Given the description of an element on the screen output the (x, y) to click on. 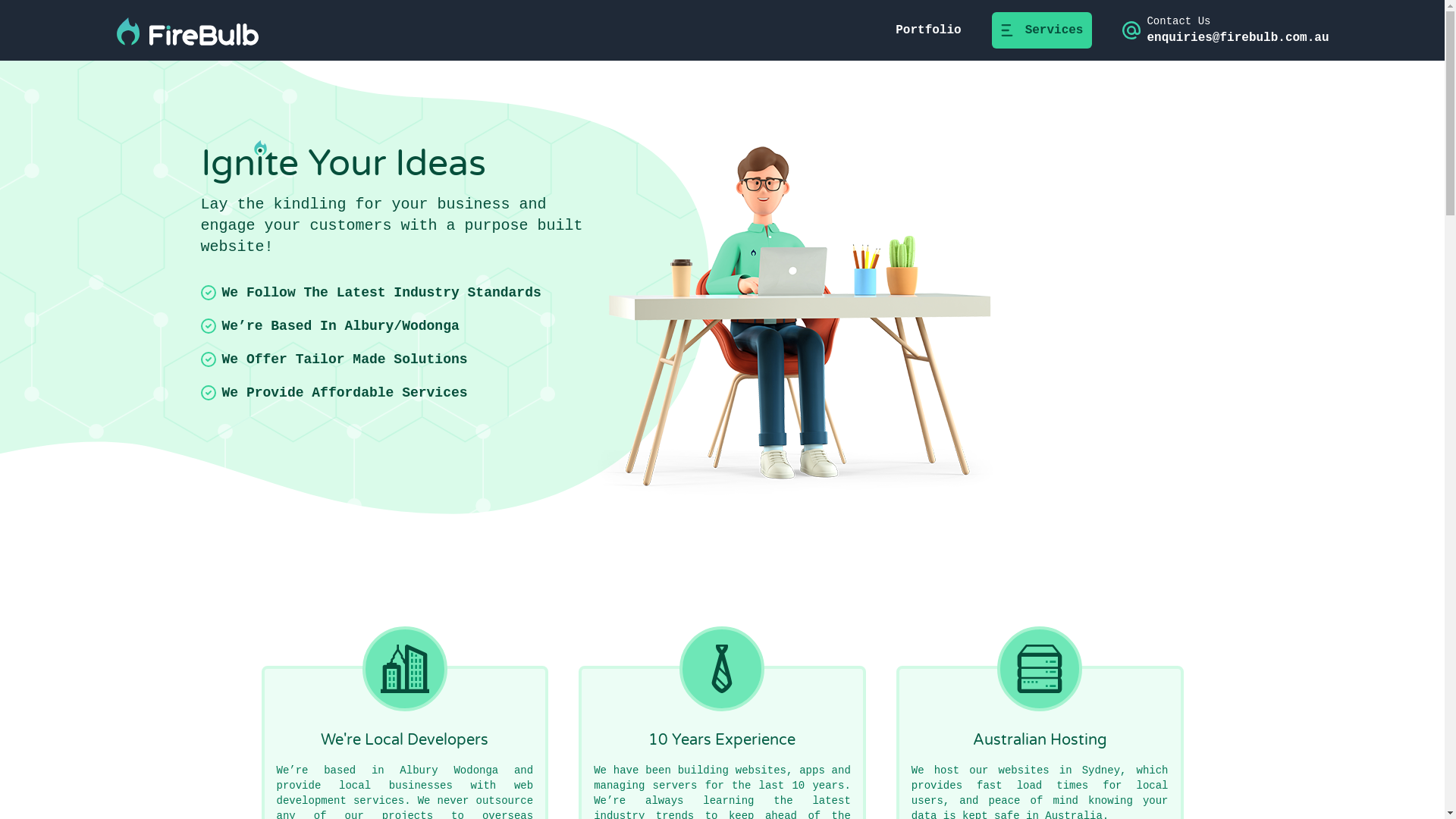
Portfolio Element type: text (927, 30)
enquiries@firebulb.com.au Element type: text (1237, 37)
Services Element type: text (1041, 30)
